Given the description of an element on the screen output the (x, y) to click on. 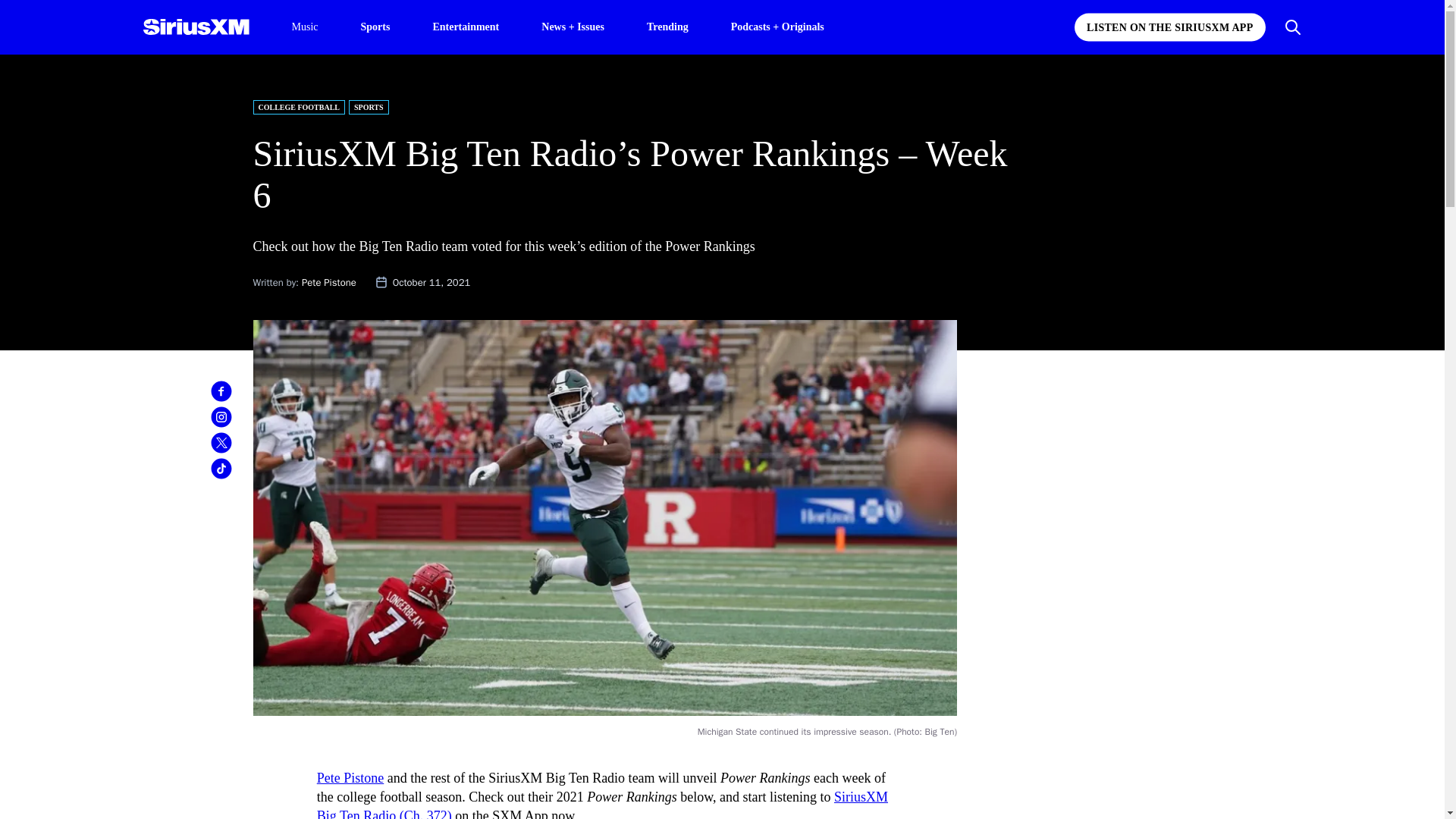
Pete Pistone (350, 777)
LISTEN ON THE SIRIUSXM APP (1169, 27)
Sports (375, 26)
Pete Pistone (328, 282)
Trending (667, 26)
Entertainment (465, 26)
COLLEGE FOOTBALL (299, 106)
SPORTS (368, 106)
Music (304, 26)
